Given the description of an element on the screen output the (x, y) to click on. 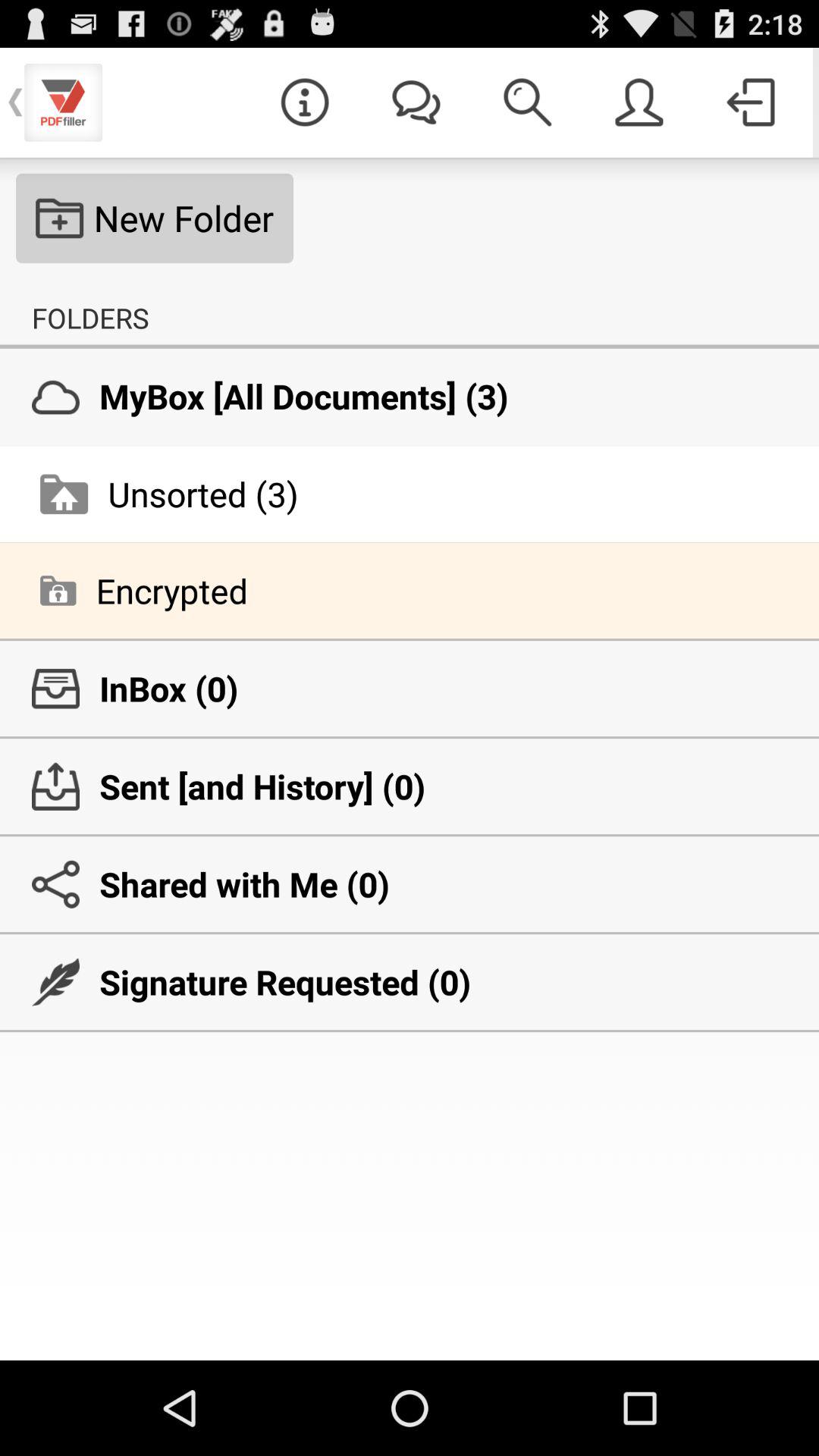
choose mybox all documents icon (409, 396)
